Given the description of an element on the screen output the (x, y) to click on. 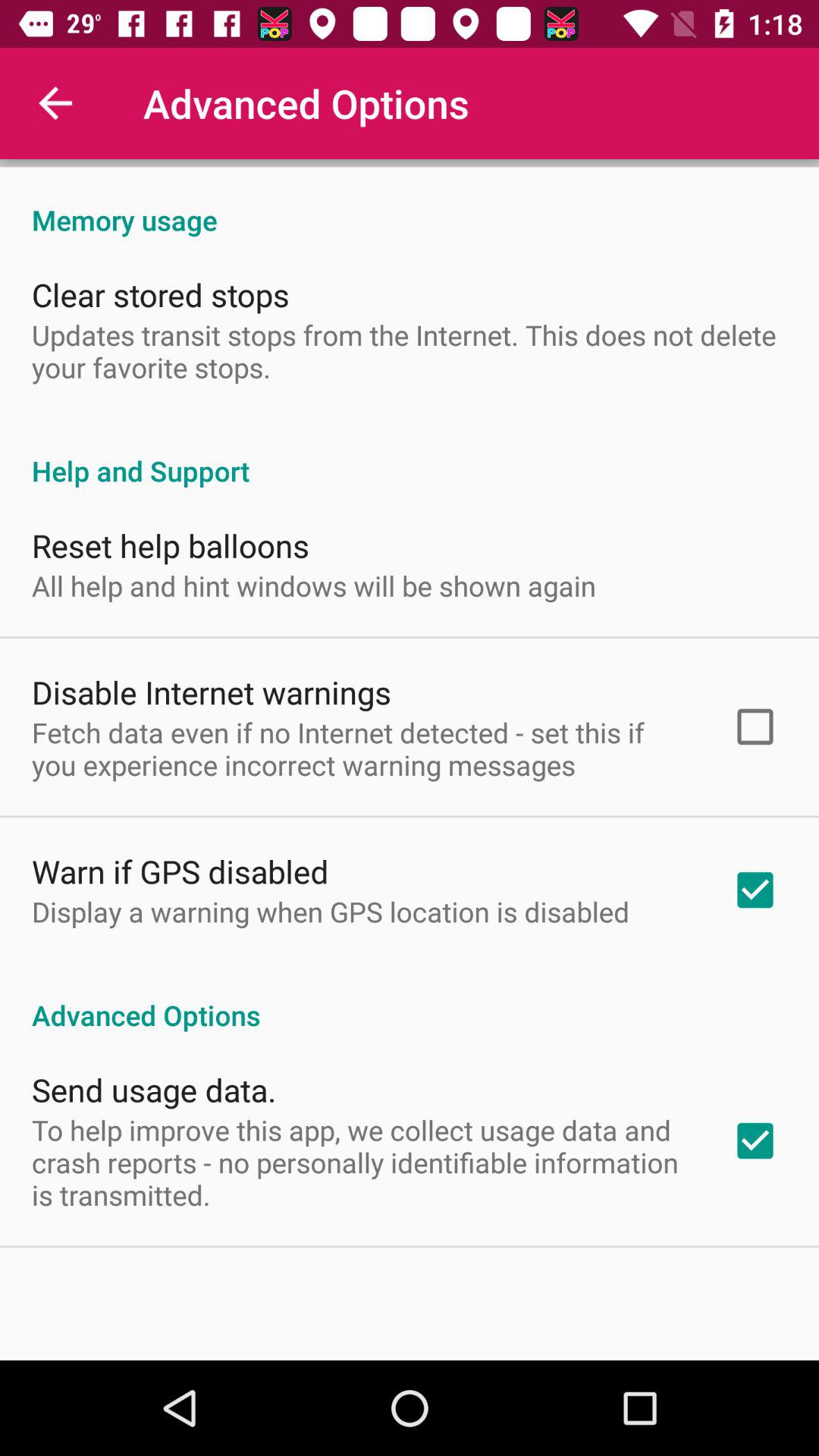
open the icon above fetch data even (211, 691)
